Given the description of an element on the screen output the (x, y) to click on. 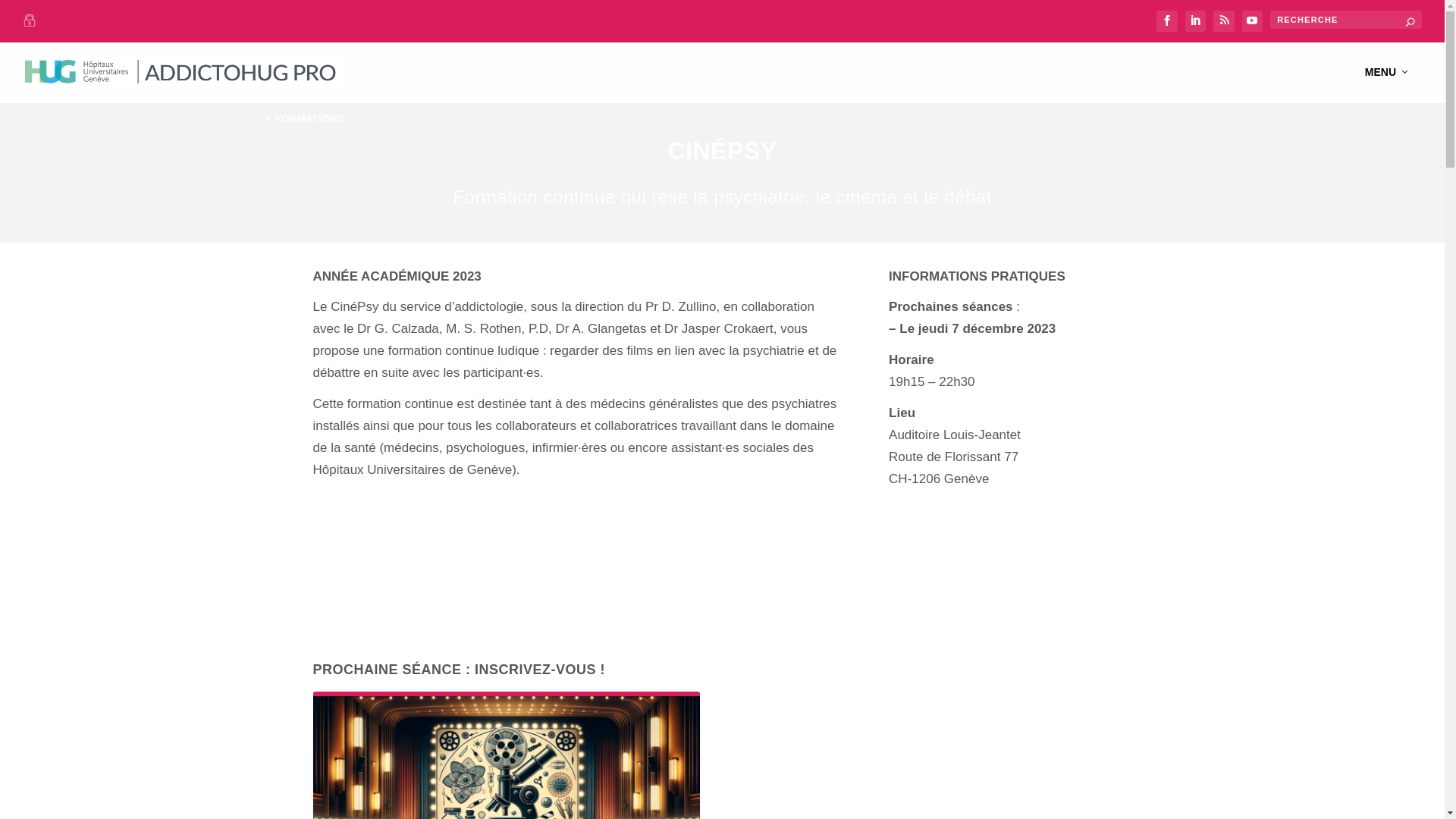
Search for: Element type: hover (1345, 19)
< FORMATIONS Element type: text (304, 118)
MENU Element type: text (1387, 84)
